Given the description of an element on the screen output the (x, y) to click on. 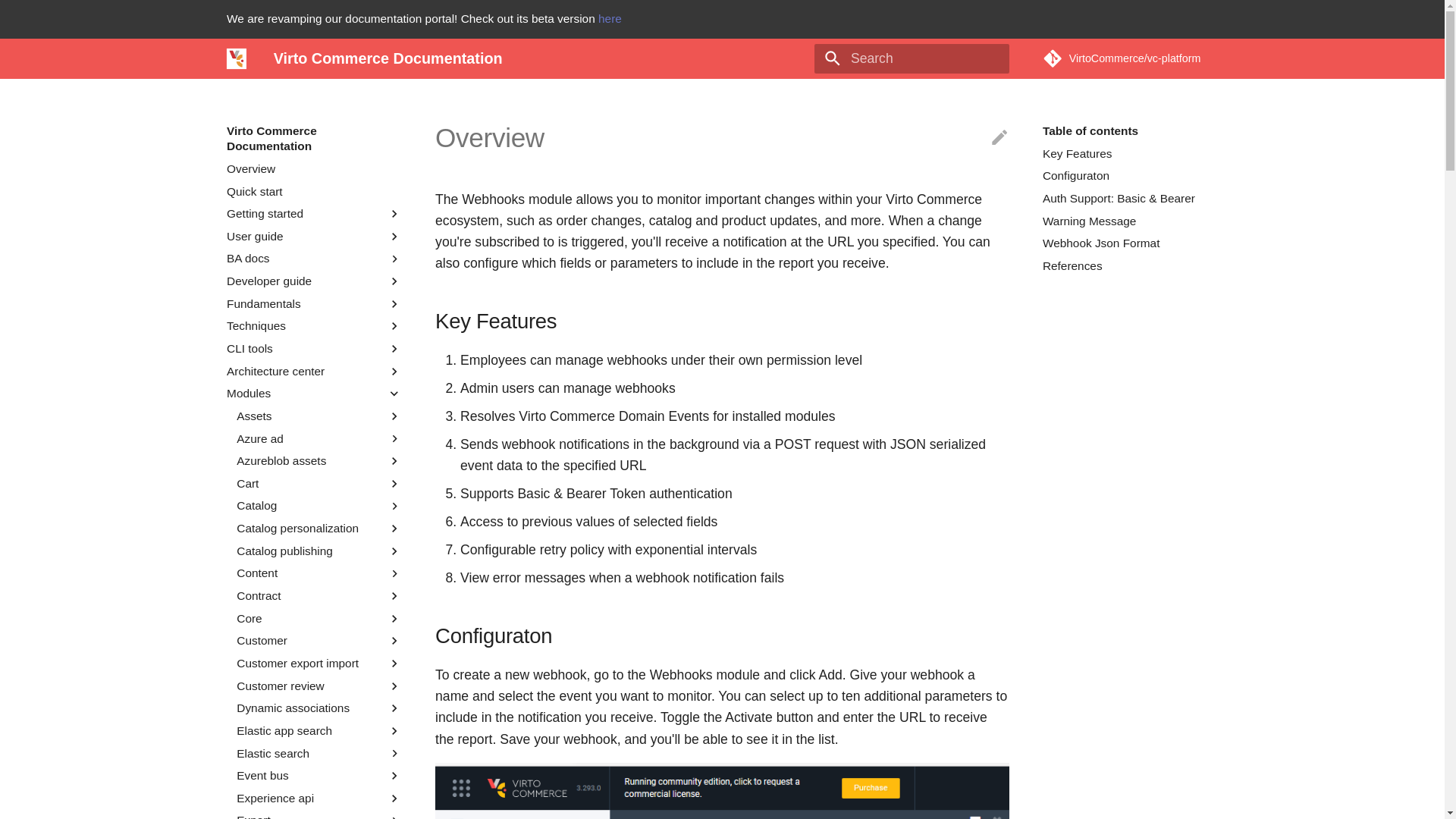
Virto Commerce Documentation (236, 58)
Go to repository (1129, 58)
Quick start (314, 191)
here (609, 18)
Overview (314, 168)
Edit this page (999, 137)
